Given the description of an element on the screen output the (x, y) to click on. 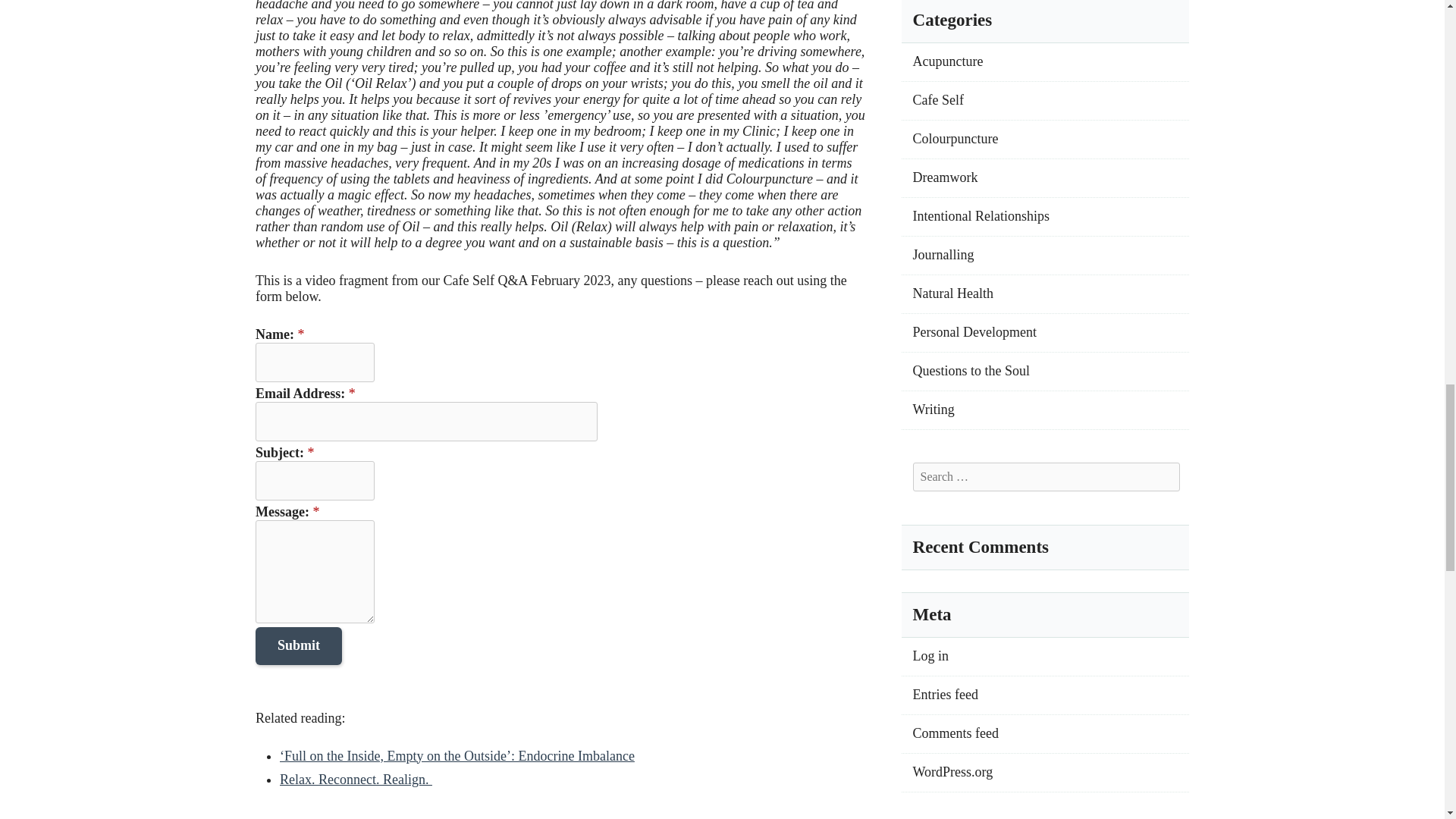
Submit (299, 645)
